Given the description of an element on the screen output the (x, y) to click on. 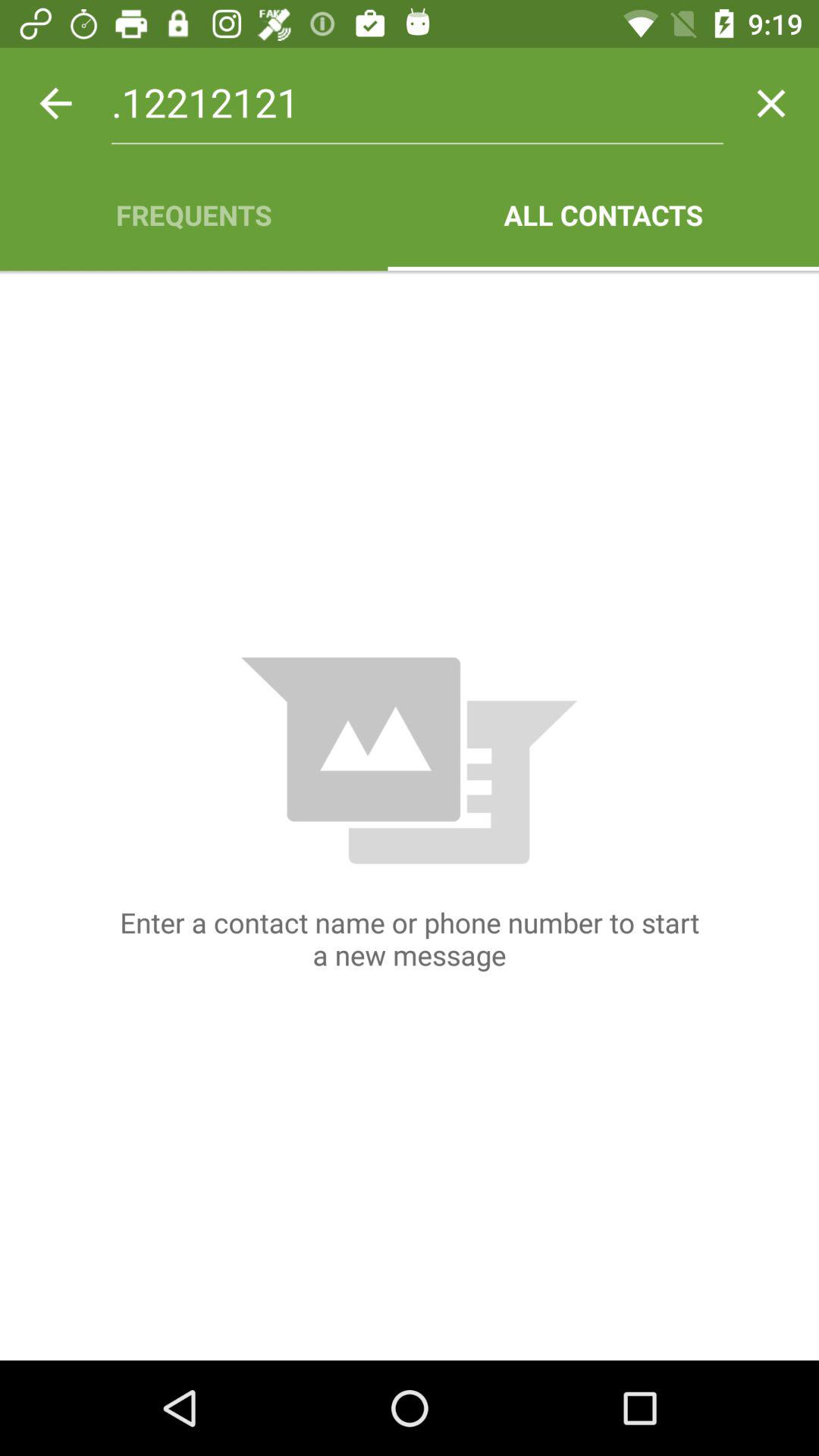
choose .12212121 icon (417, 103)
